Given the description of an element on the screen output the (x, y) to click on. 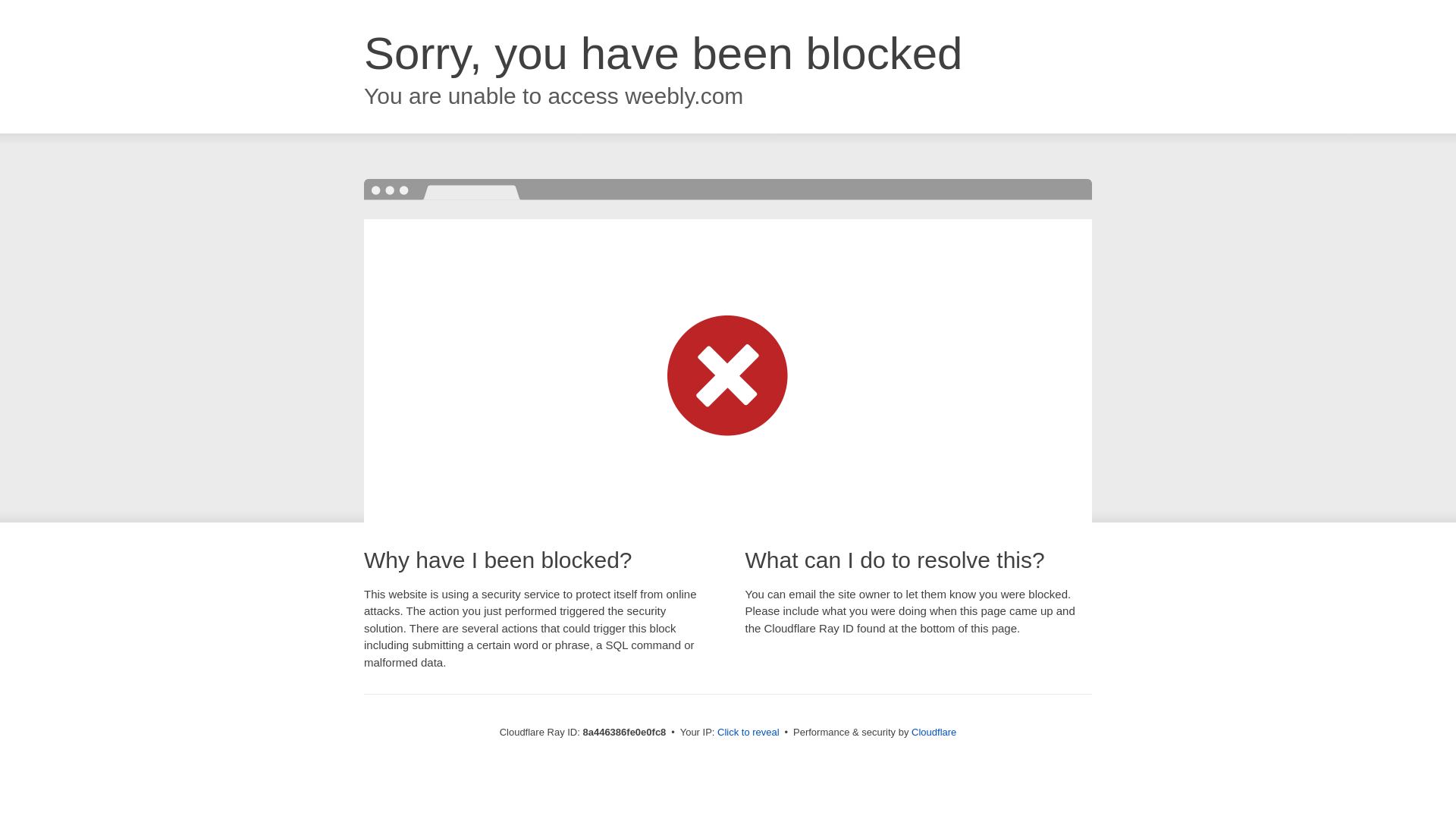
Cloudflare (933, 731)
Click to reveal (747, 732)
